Given the description of an element on the screen output the (x, y) to click on. 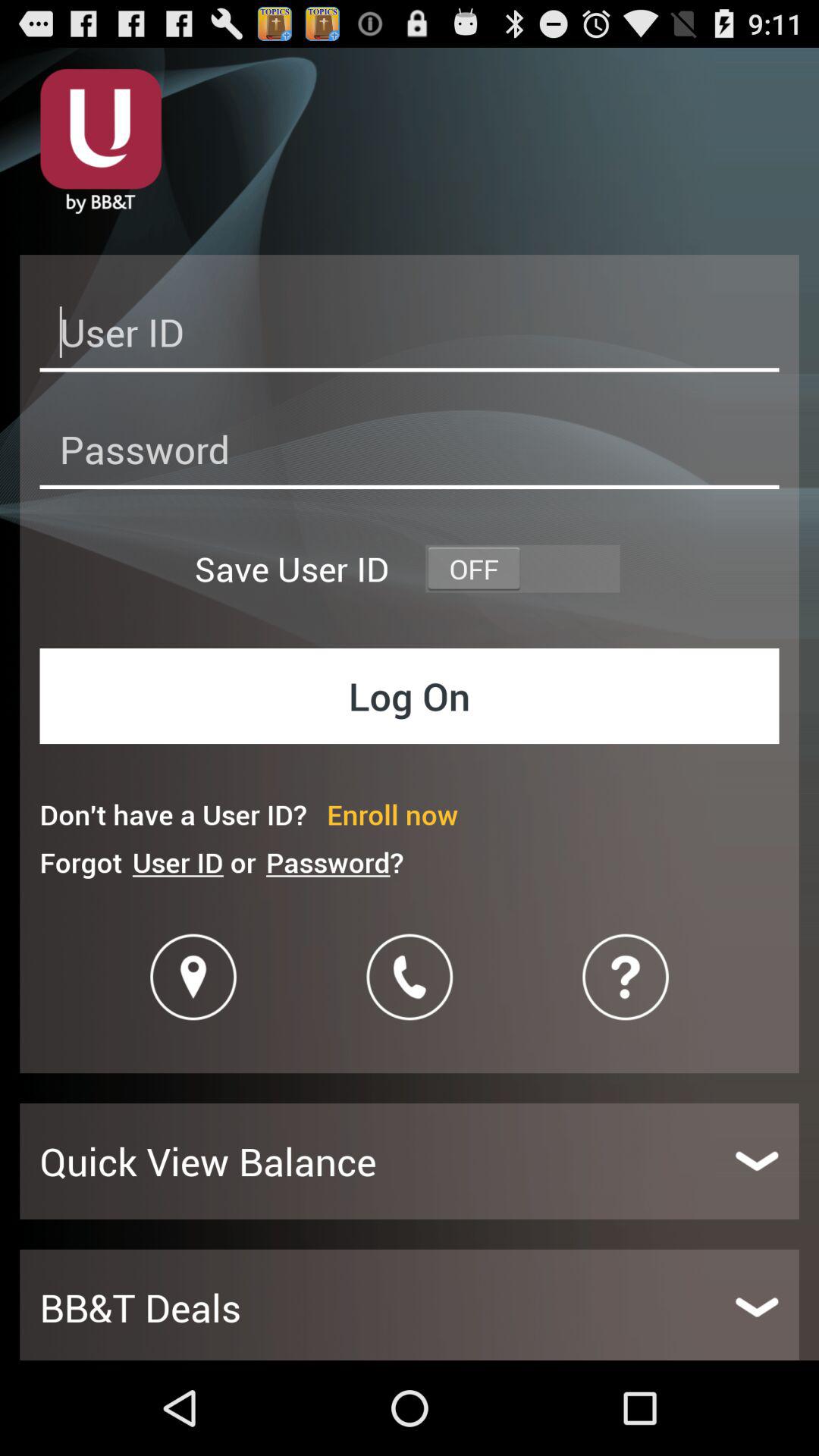
launch icon below save user id item (409, 695)
